Given the description of an element on the screen output the (x, y) to click on. 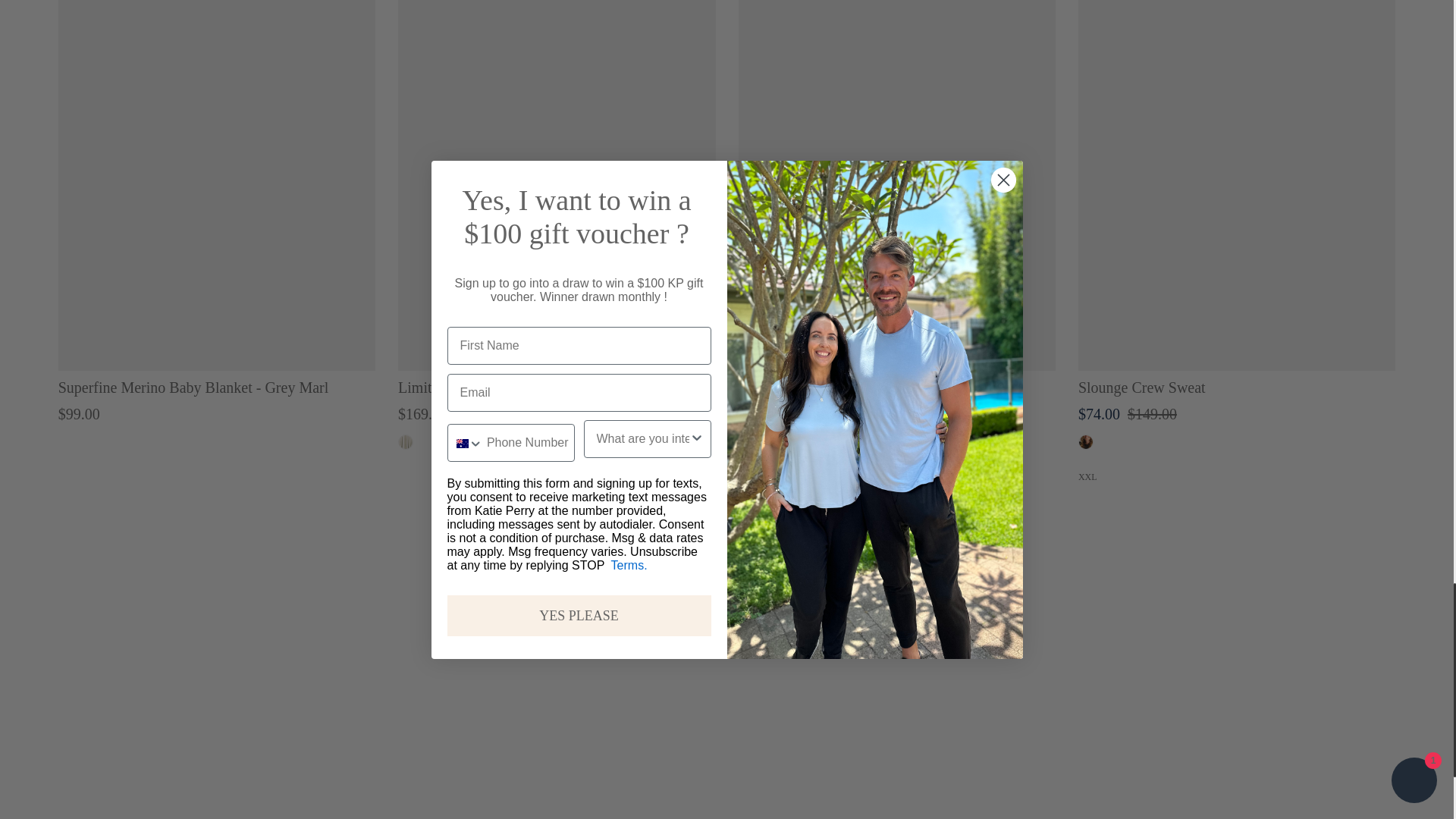
Superfine Merino Baby Blanket - Grey Marl (216, 185)
Limited Edition Bronte Cape (555, 185)
Slounge Crew Sweat (1236, 185)
Paddington Pocket V- Hoodie (896, 185)
